Given the description of an element on the screen output the (x, y) to click on. 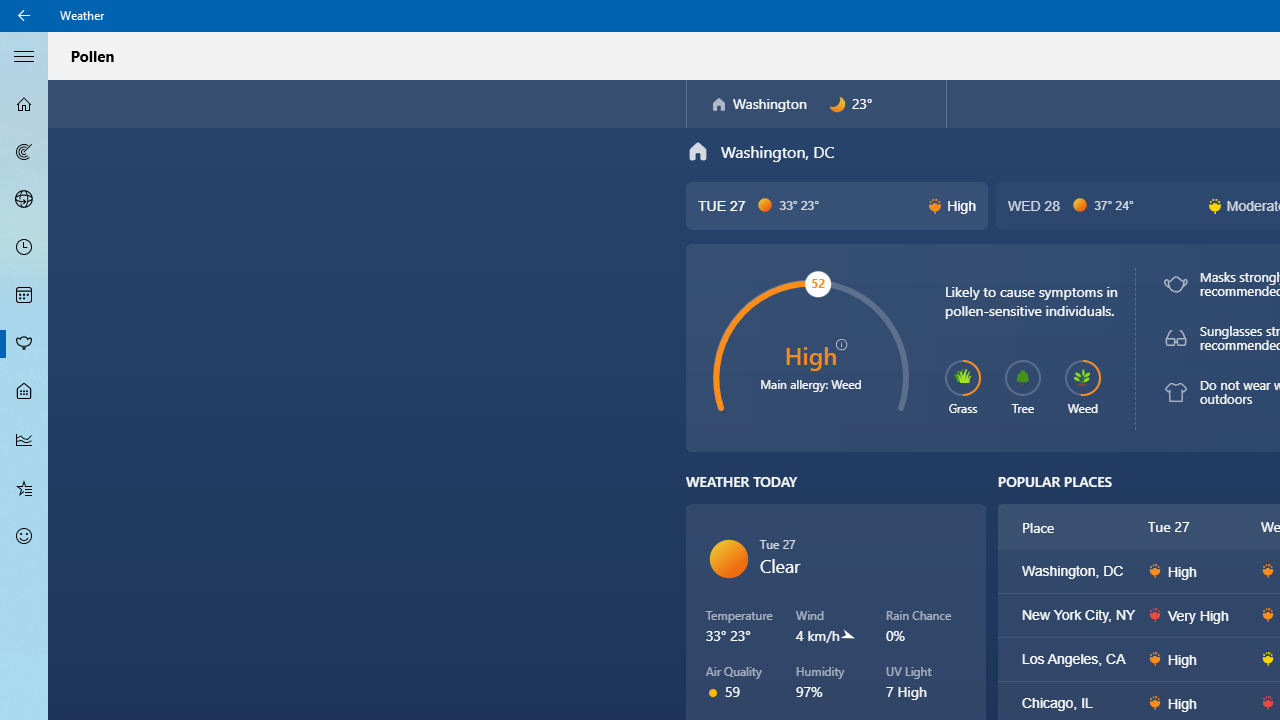
Historical Weather - Not Selected (24, 439)
Maps - Not Selected (24, 151)
Hourly Forecast - Not Selected (24, 247)
Favorites - Not Selected (24, 487)
Monthly Forecast - Not Selected (24, 295)
Maps - Not Selected (24, 151)
Send Feedback - Not Selected (24, 535)
Forecast - Not Selected (24, 103)
Collapse Navigation (24, 55)
Back (24, 15)
Send Feedback - Not Selected (24, 535)
Hourly Forecast - Not Selected (24, 247)
Pollen - Not Selected (24, 343)
3D Maps - Not Selected (24, 199)
3D Maps - Not Selected (24, 199)
